Given the description of an element on the screen output the (x, y) to click on. 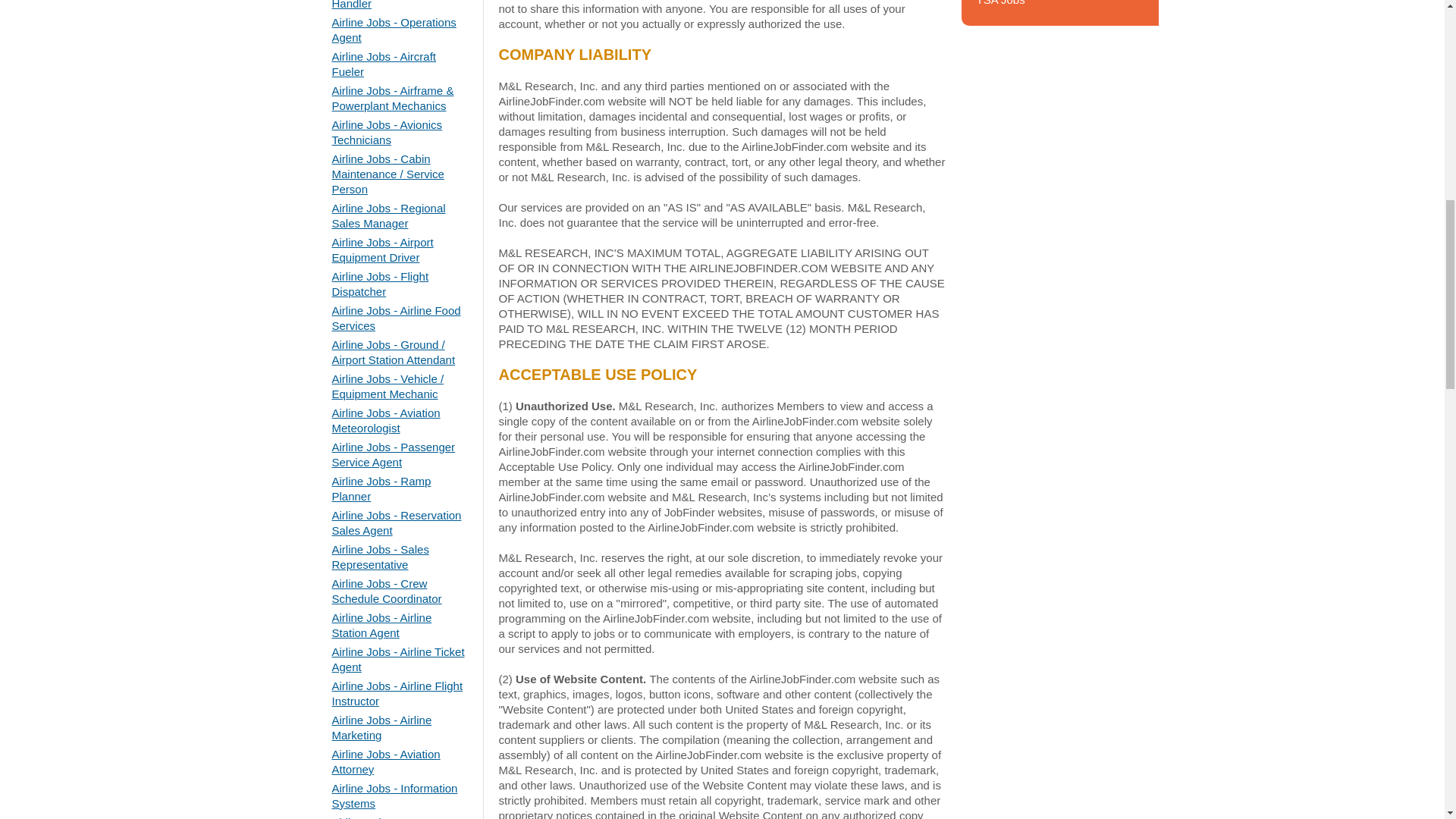
Airline Jobs - Operations Agent (394, 29)
Airline Jobs - Baggage Handler (388, 4)
Airline Jobs - Aircraft Fueler (383, 63)
